Given the description of an element on the screen output the (x, y) to click on. 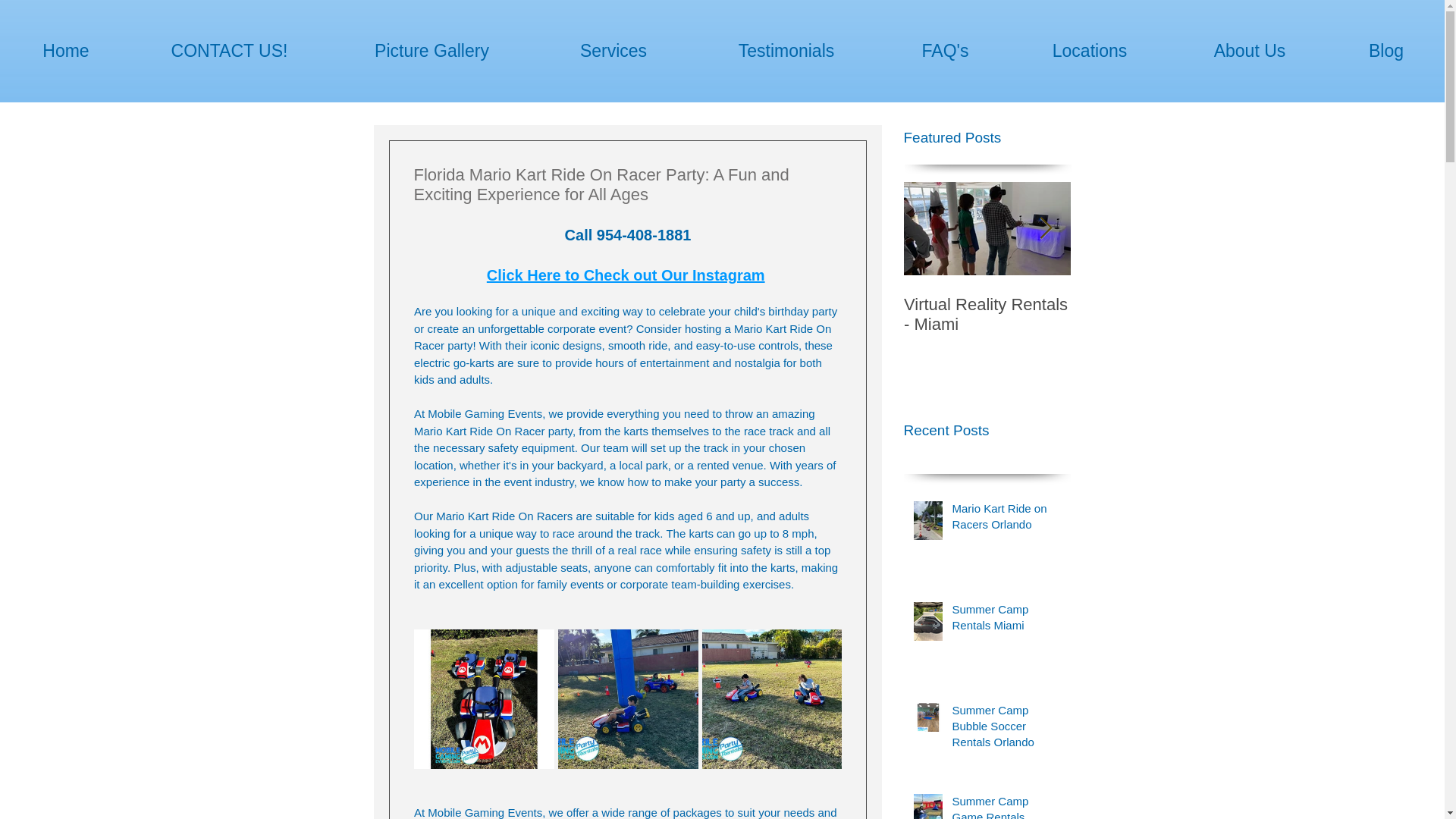
Testimonials (786, 51)
FAQ's (944, 51)
Home (66, 51)
CONTACT US! (229, 51)
Picture Gallery (431, 51)
